Given the description of an element on the screen output the (x, y) to click on. 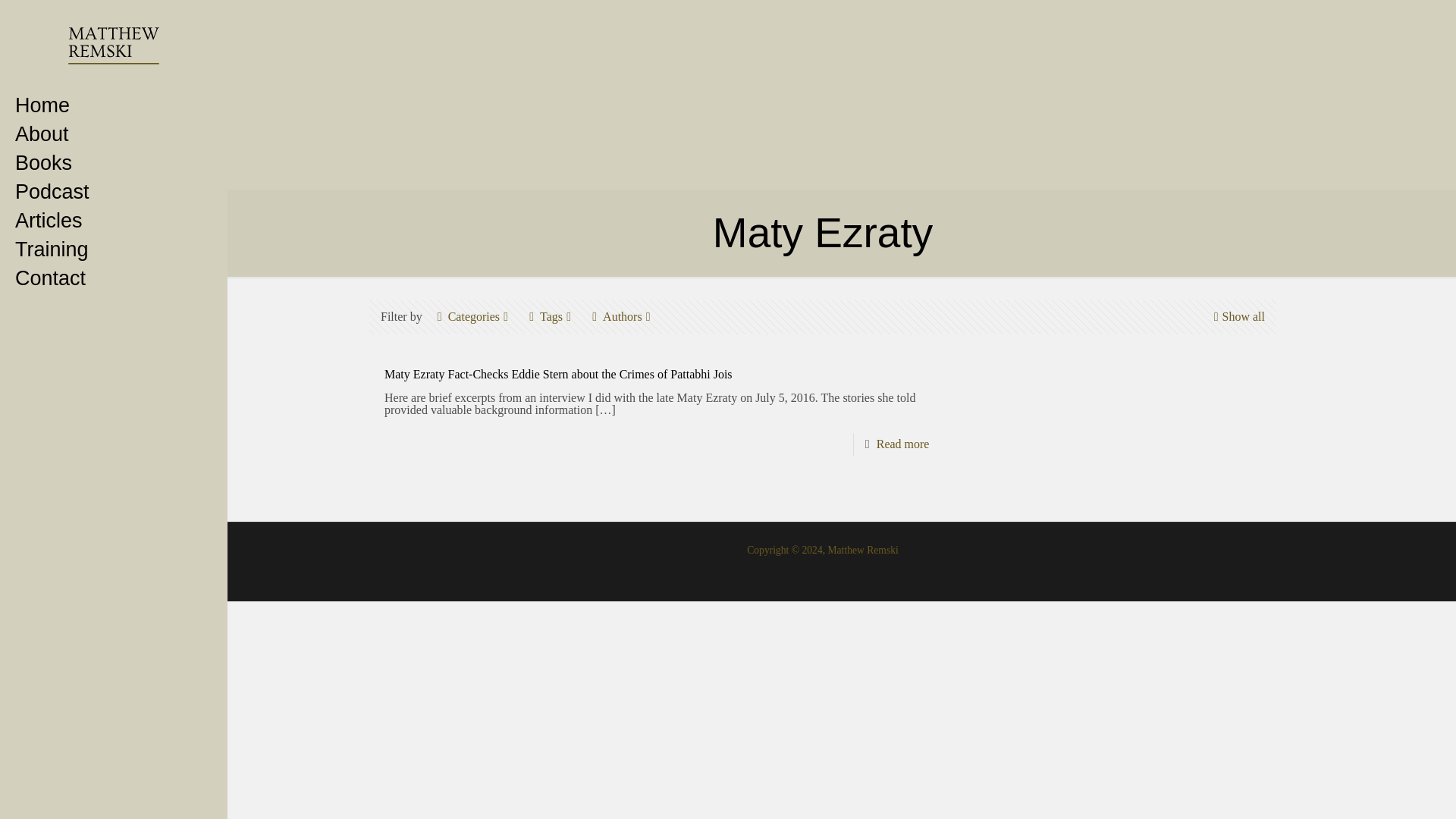
Matthew Remski (113, 45)
Articles (113, 220)
Podcast (113, 191)
Books (113, 162)
Contact (113, 277)
Authors (622, 316)
About (113, 133)
Show all (1237, 316)
Home (113, 104)
Categories (473, 316)
